Given the description of an element on the screen output the (x, y) to click on. 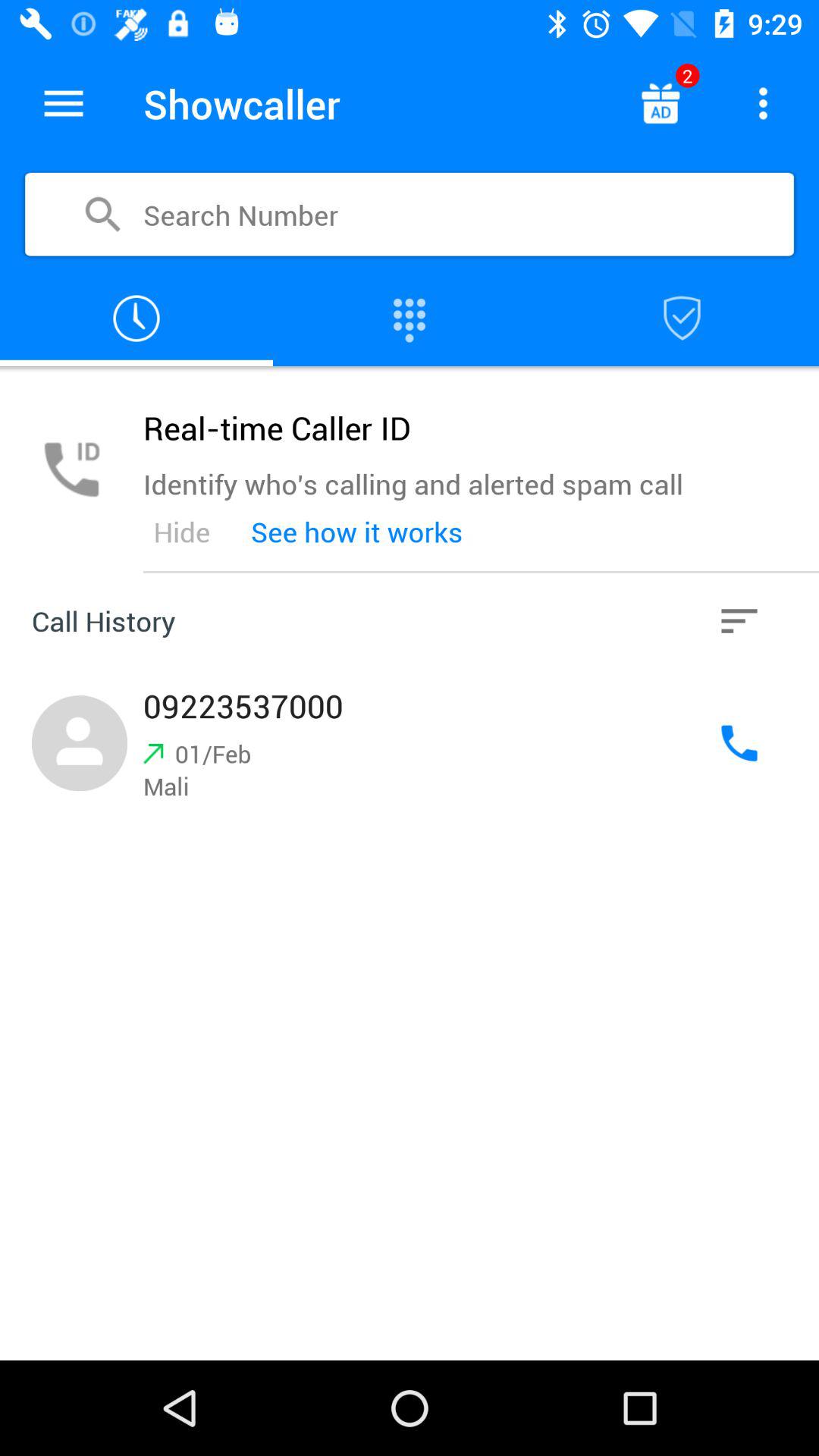
select the item next to the see how it (739, 620)
